Given the description of an element on the screen output the (x, y) to click on. 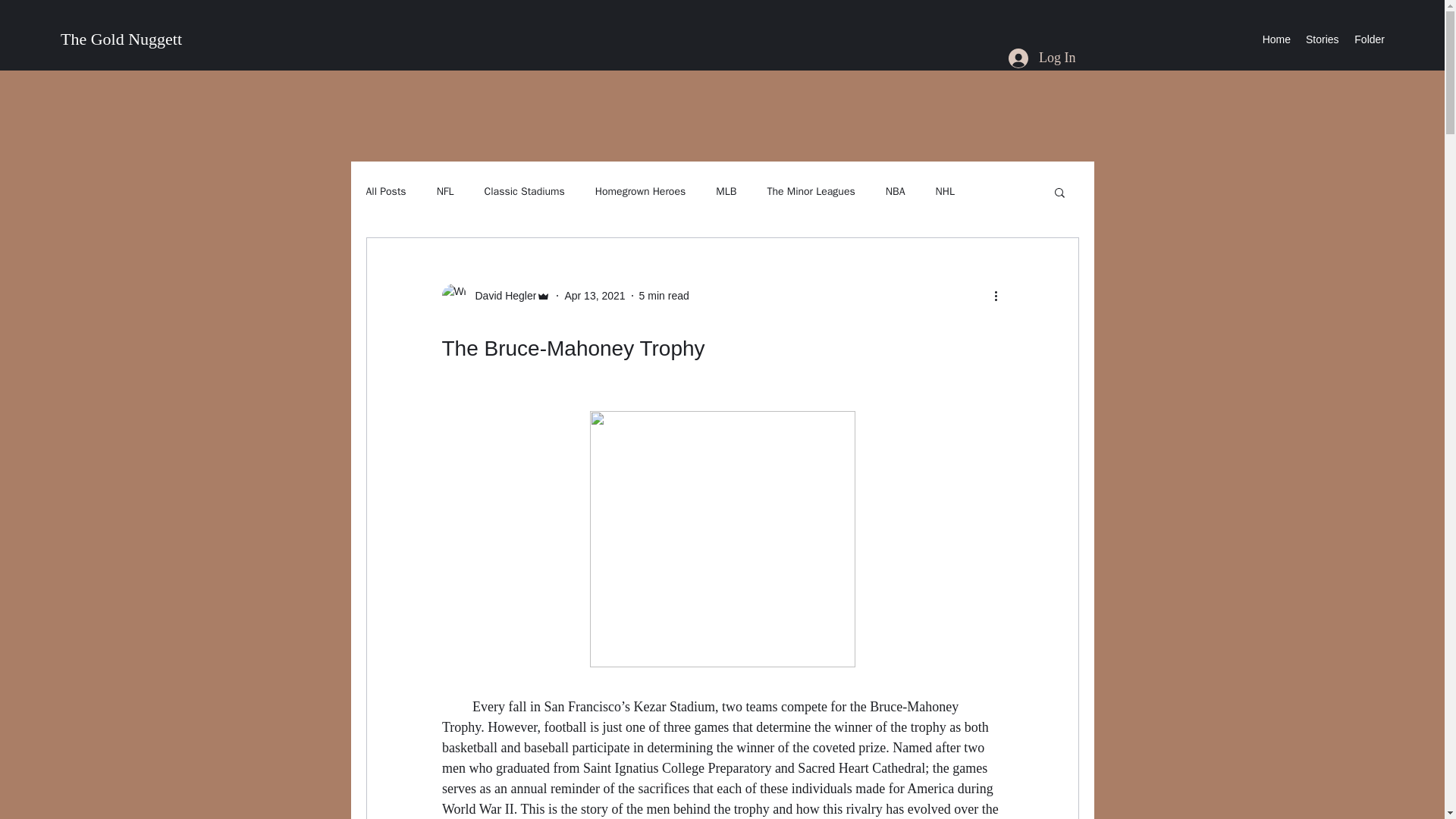
NFL (445, 192)
David Hegler (495, 295)
Home (1275, 38)
NBA (895, 192)
5 min read (663, 295)
All Posts (385, 192)
MLB (726, 192)
Stories (1321, 38)
The Minor Leagues (810, 192)
NHL (943, 192)
